Given the description of an element on the screen output the (x, y) to click on. 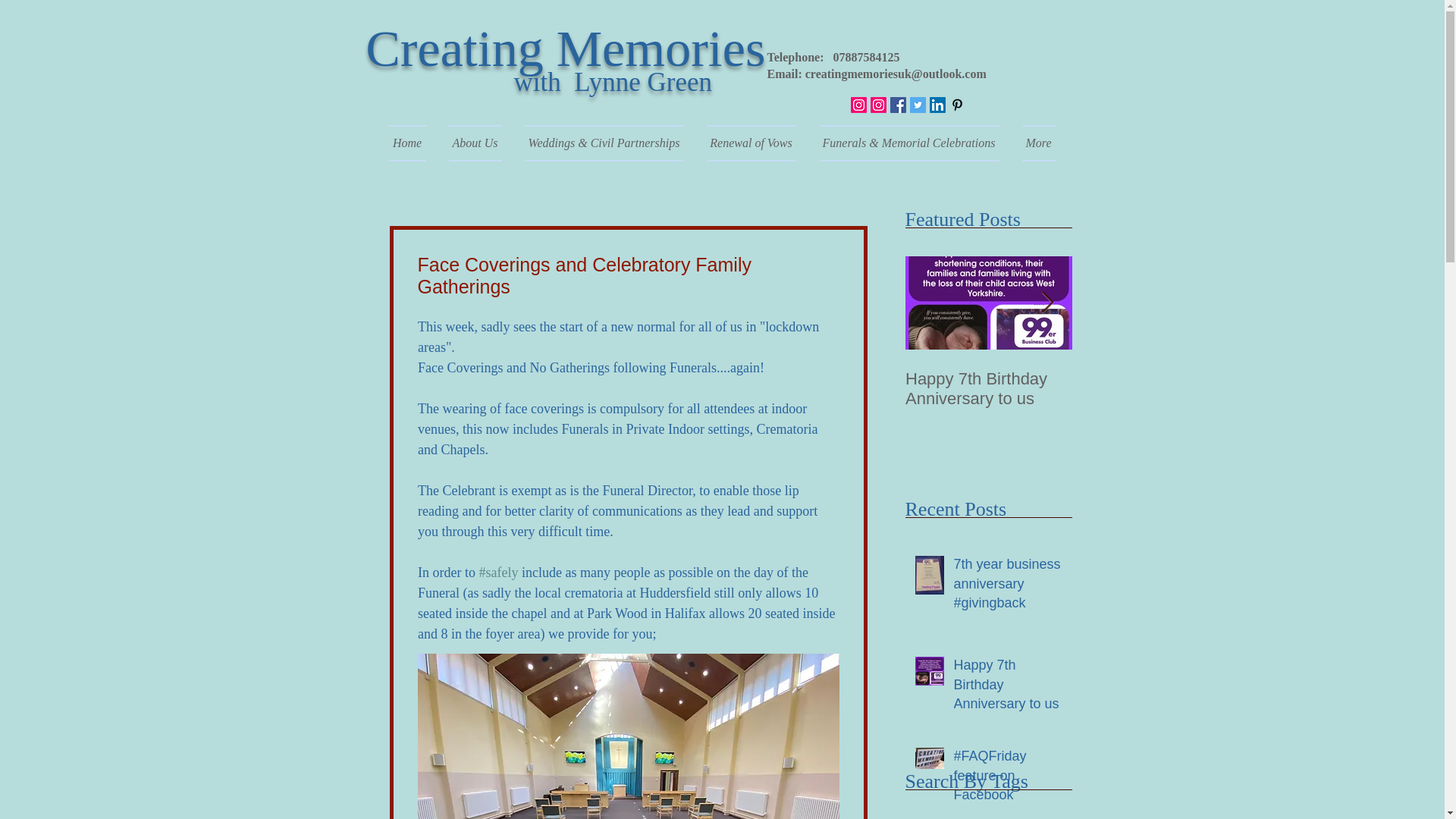
Happy 7th Birthday Anniversary to us (988, 388)
About Us (474, 143)
Renewal of Vows (750, 143)
Happy 7th Birthday Anniversary to us (1007, 687)
Facebook Posts for Mothers Day 2024 (1155, 388)
with  Lynne Green (612, 82)
Home (412, 143)
